Given the description of an element on the screen output the (x, y) to click on. 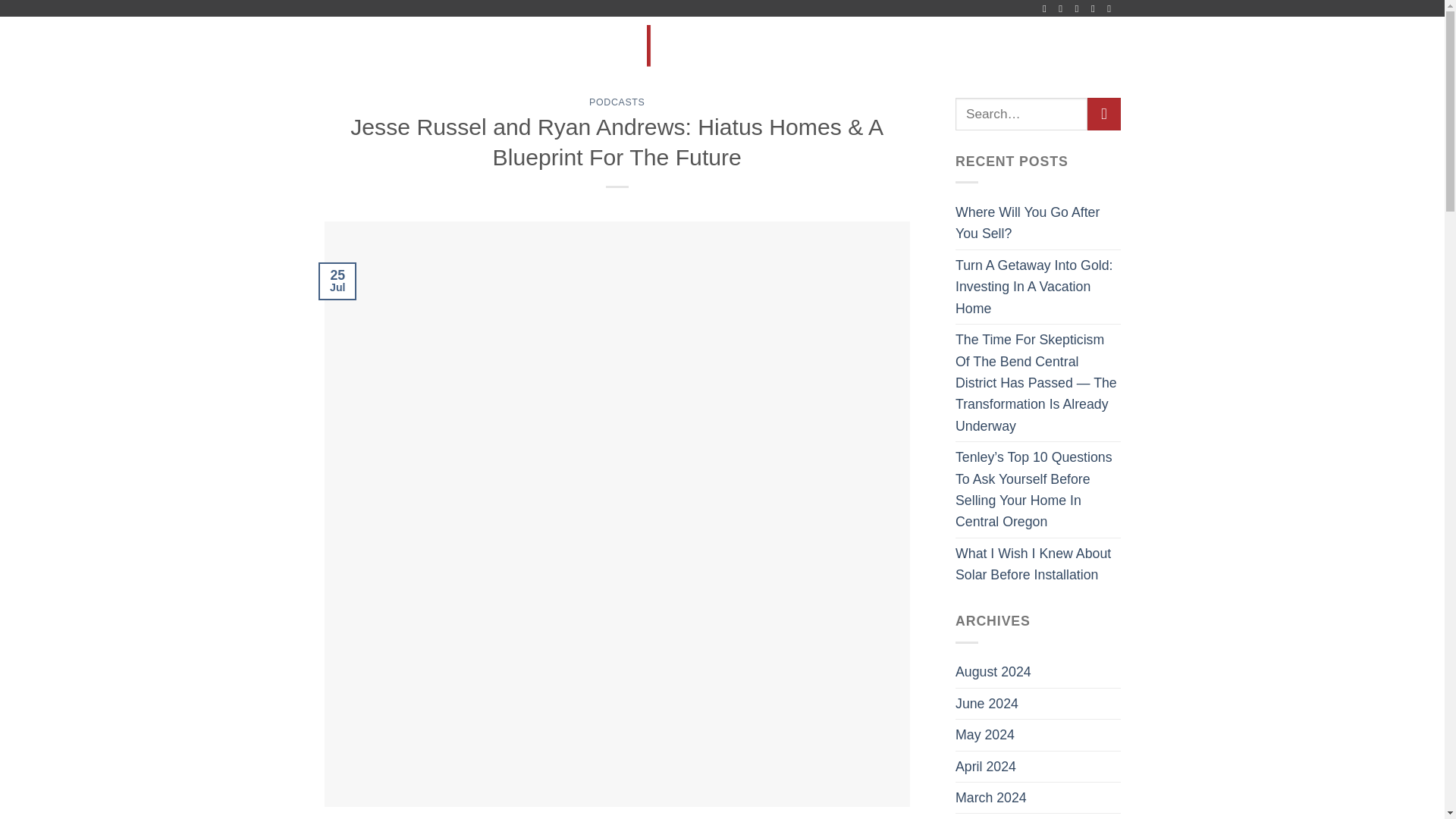
What I Wish I Knew About Solar Before Installation (1038, 564)
MENU (353, 45)
Turn A Getaway Into Gold: Investing In A Vacation Home (1038, 286)
June 2024 (986, 703)
May 2024 (984, 734)
Where Will You Go After You Sell? (1038, 223)
PODCASTS (617, 102)
August 2024 (992, 671)
April 2024 (985, 766)
